Given the description of an element on the screen output the (x, y) to click on. 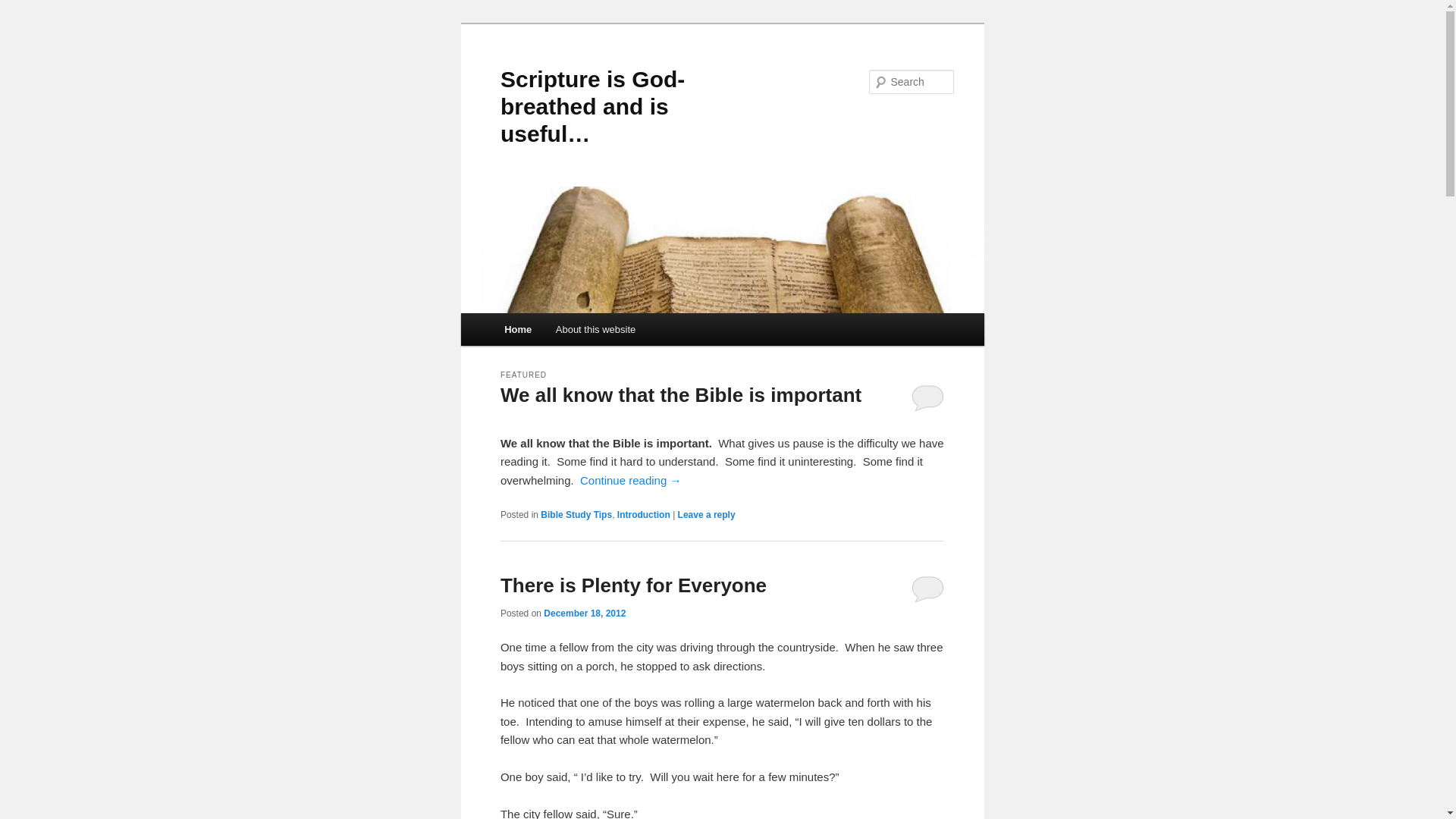
Search Element type: text (24, 8)
August 5, 2012 Element type: text (575, 422)
December 18, 2012 Element type: text (584, 613)
We all know that the Bible is important Element type: text (680, 394)
Leave a reply Element type: text (706, 514)
Skip to secondary content Element type: text (579, 332)
There is Plenty for Everyone Element type: text (633, 585)
Bible Study Tips Element type: text (575, 514)
Home Element type: text (517, 329)
About this website Element type: text (595, 329)
Skip to primary content Element type: text (572, 332)
Introduction Element type: text (643, 514)
